Given the description of an element on the screen output the (x, y) to click on. 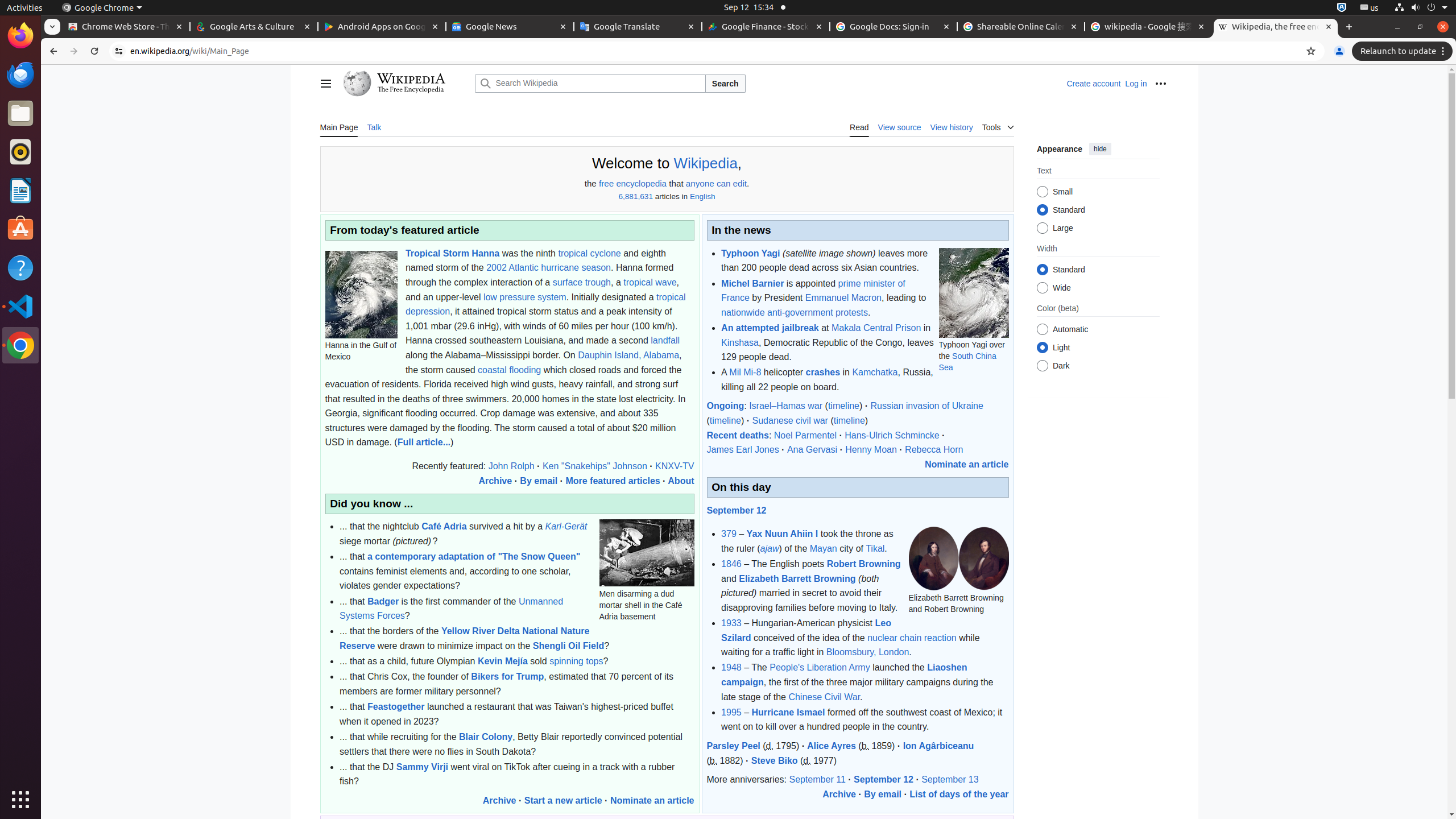
Log in Element type: link (1135, 83)
Robert Browning Element type: link (863, 564)
Hurricane Ismael Element type: link (788, 711)
Bookmark this tab Element type: push-button (1310, 51)
:1.72/StatusNotifierItem Element type: menu (1341, 7)
